Given the description of an element on the screen output the (x, y) to click on. 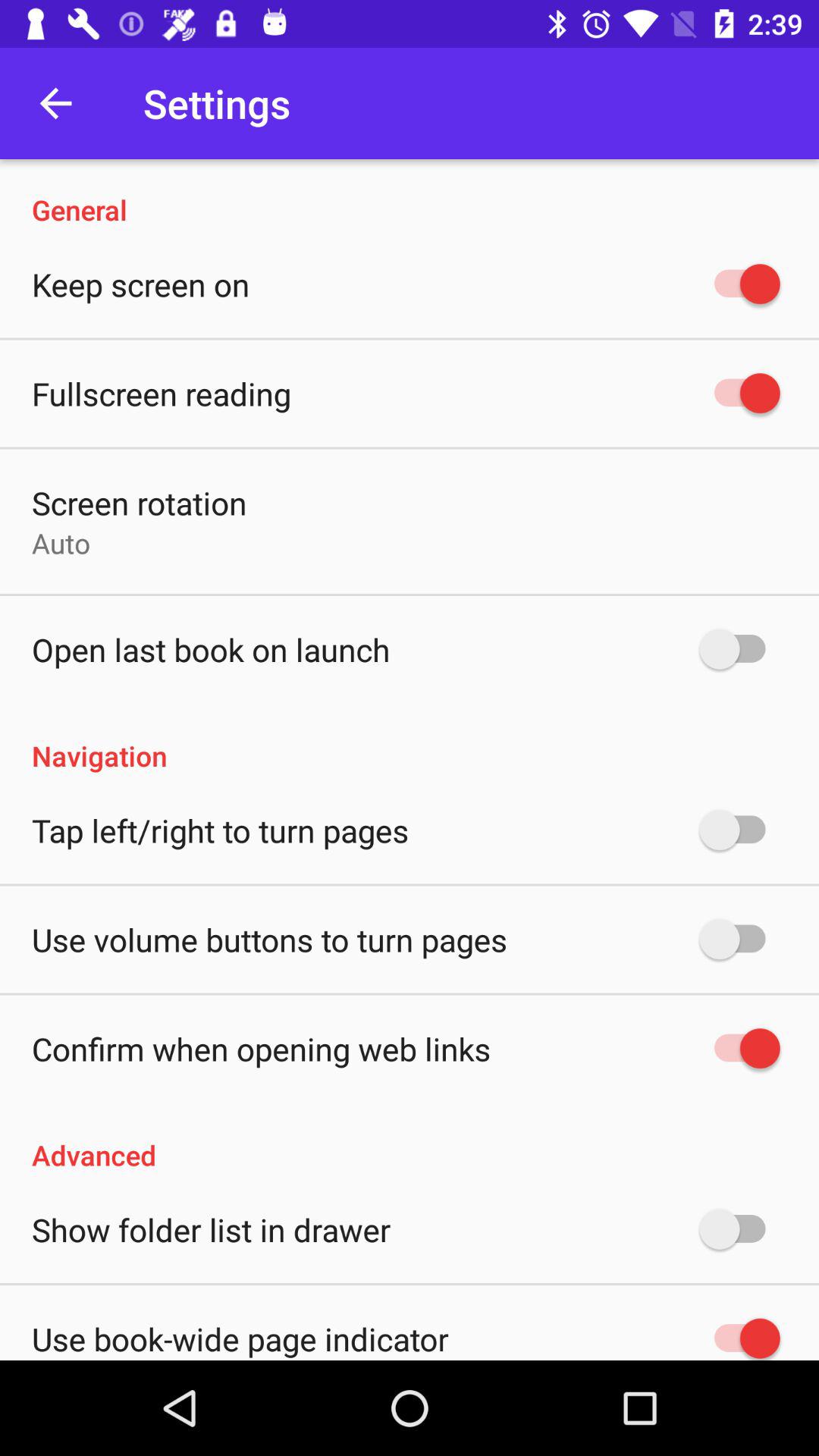
flip to the keep screen on item (140, 283)
